Given the description of an element on the screen output the (x, y) to click on. 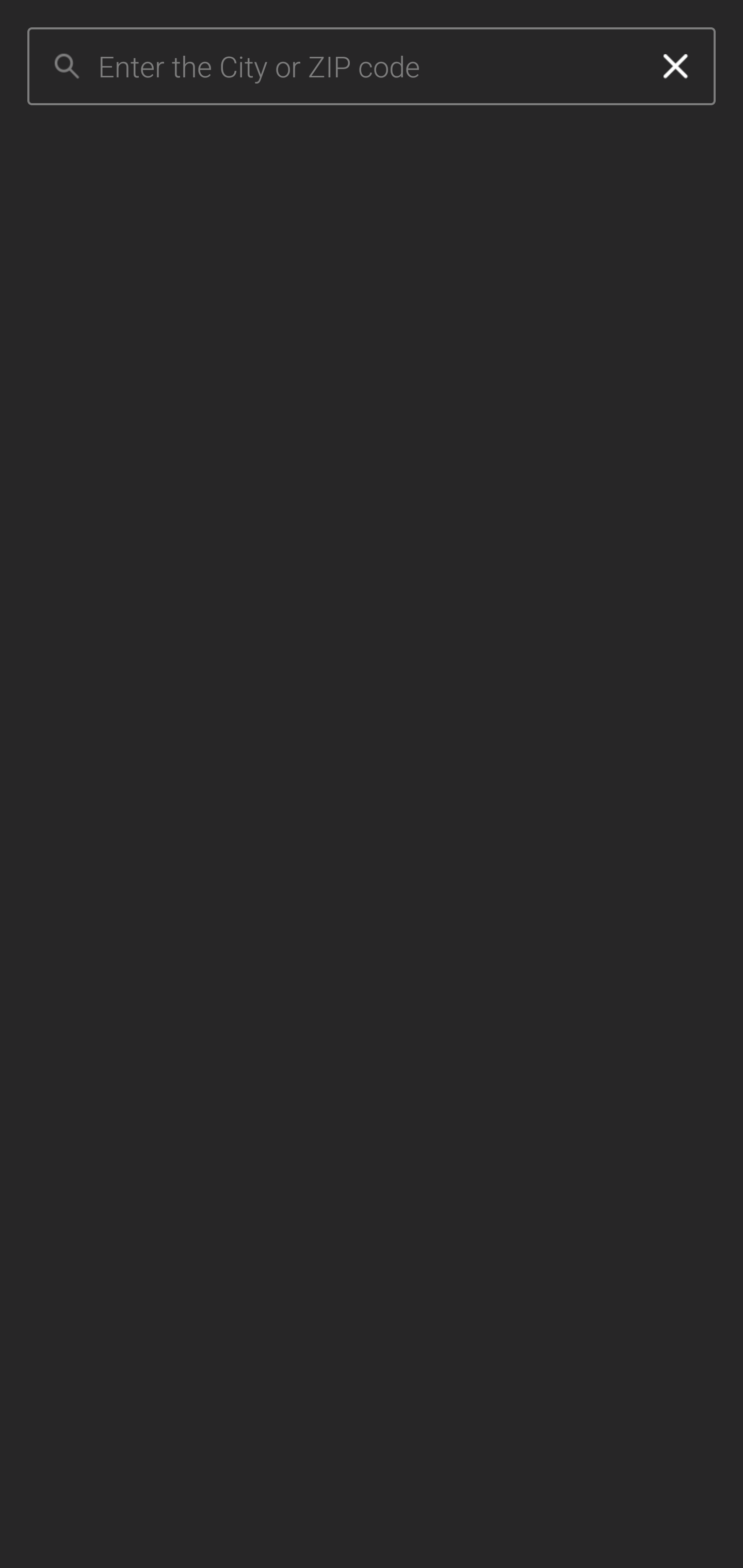
Enter the City or ZIP code (367, 66)
